Given the description of an element on the screen output the (x, y) to click on. 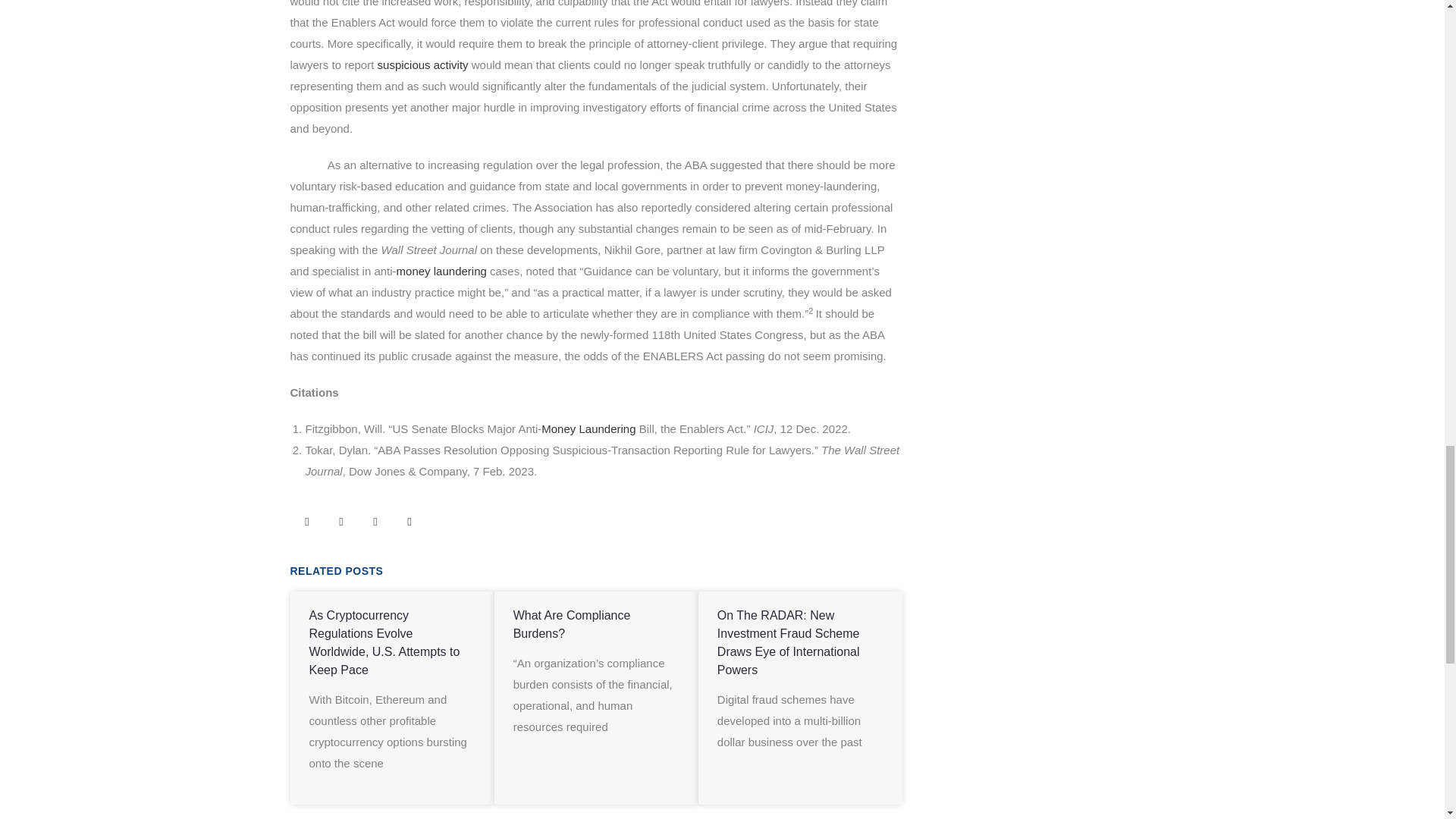
suspicious activity (422, 64)
Money Laundering (587, 428)
money laundering (441, 270)
